Given the description of an element on the screen output the (x, y) to click on. 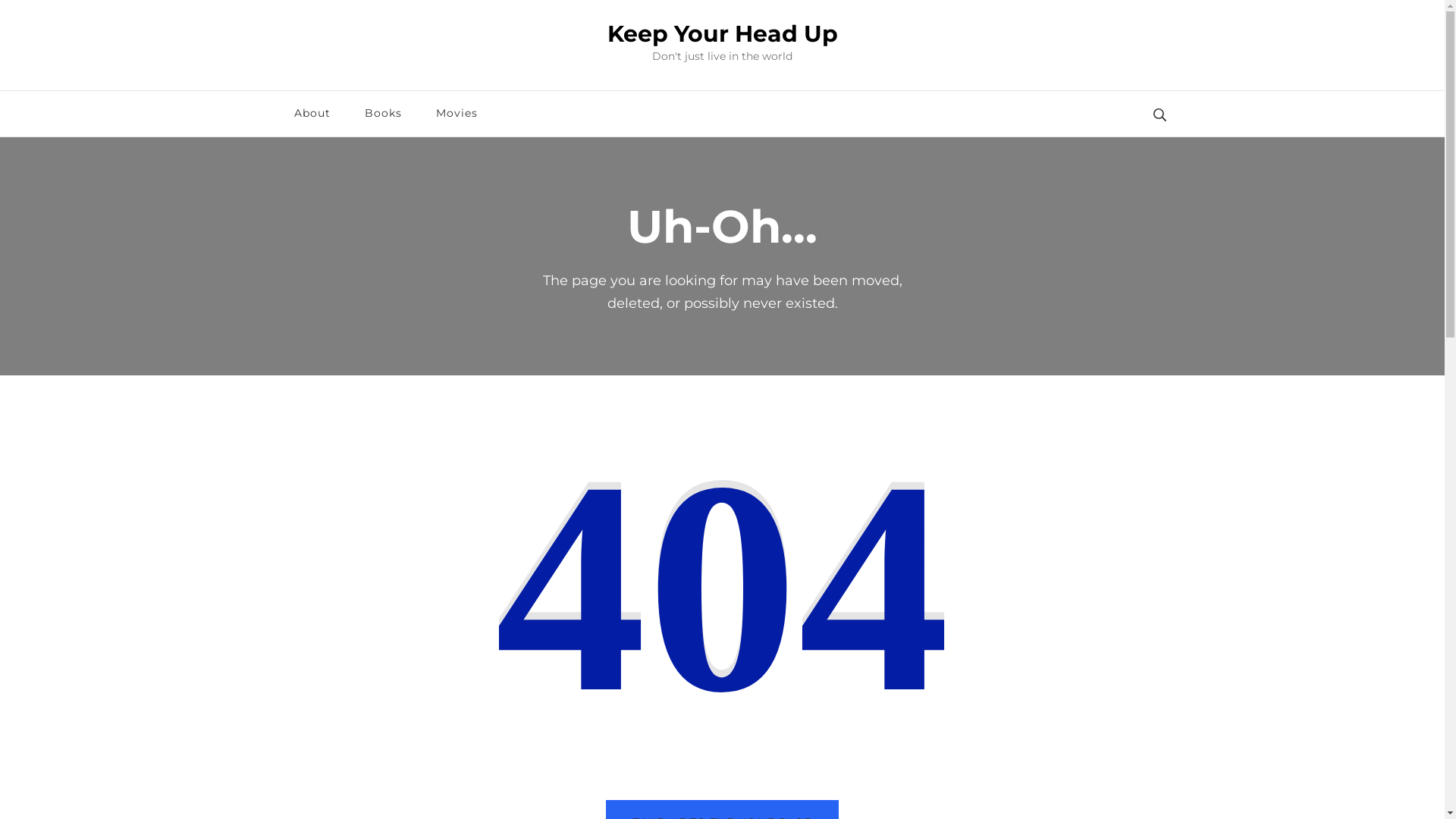
Movies Element type: text (456, 113)
Books Element type: text (382, 113)
Keep Your Head Up Element type: text (721, 33)
About Element type: text (312, 113)
